Given the description of an element on the screen output the (x, y) to click on. 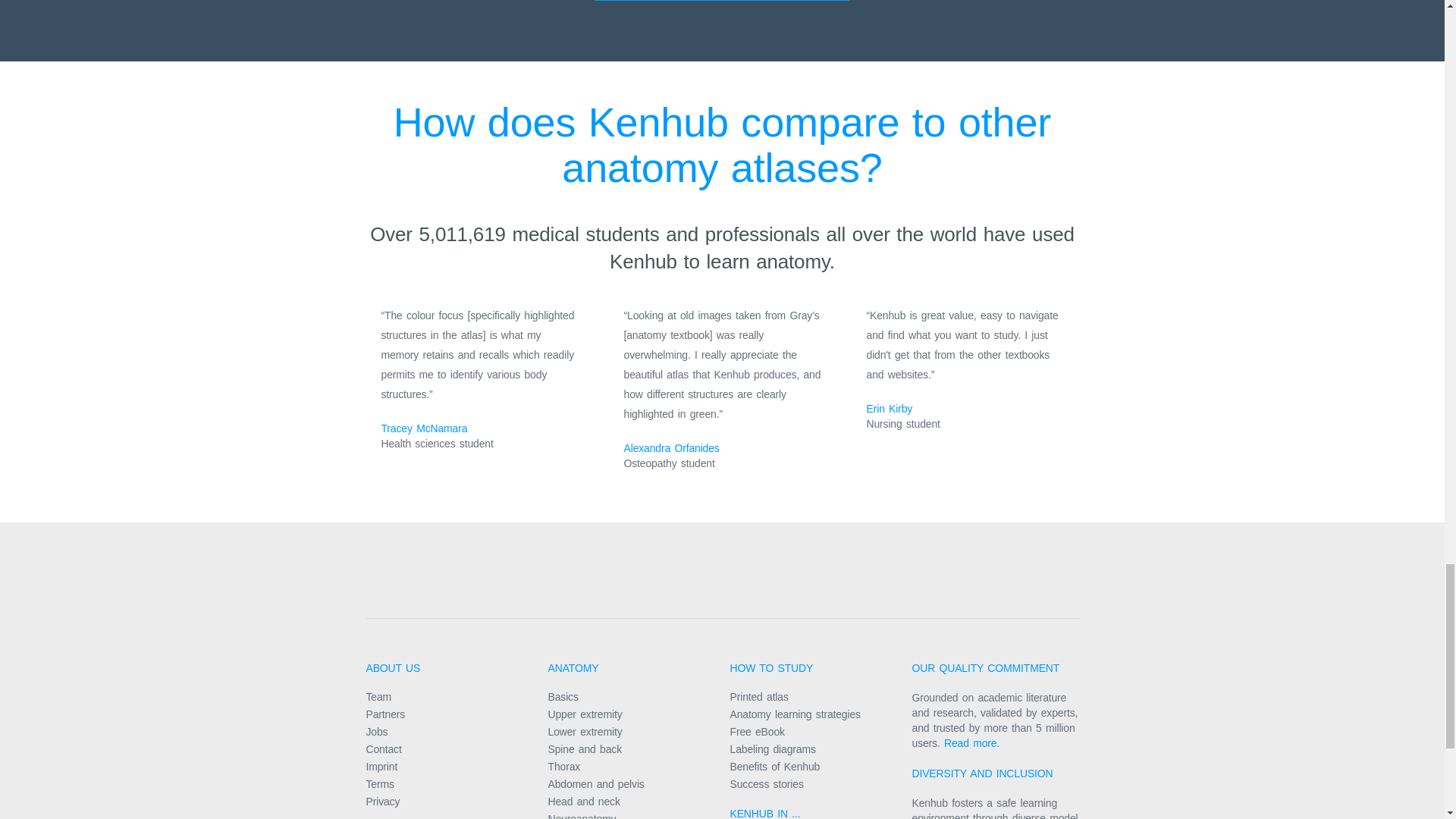
Anatomy learning strategies (794, 714)
Partners (384, 714)
Terms (379, 784)
Team (378, 696)
HOW TO STUDY (770, 667)
Spine and back (584, 748)
Labeling diagrams (772, 748)
Success stories (766, 784)
Contact (383, 748)
Neuroanatomy (581, 816)
Imprint (381, 766)
Upper extremity (584, 714)
Printed atlas (758, 696)
Free eBook (756, 731)
ABOUT US (392, 667)
